Given the description of an element on the screen output the (x, y) to click on. 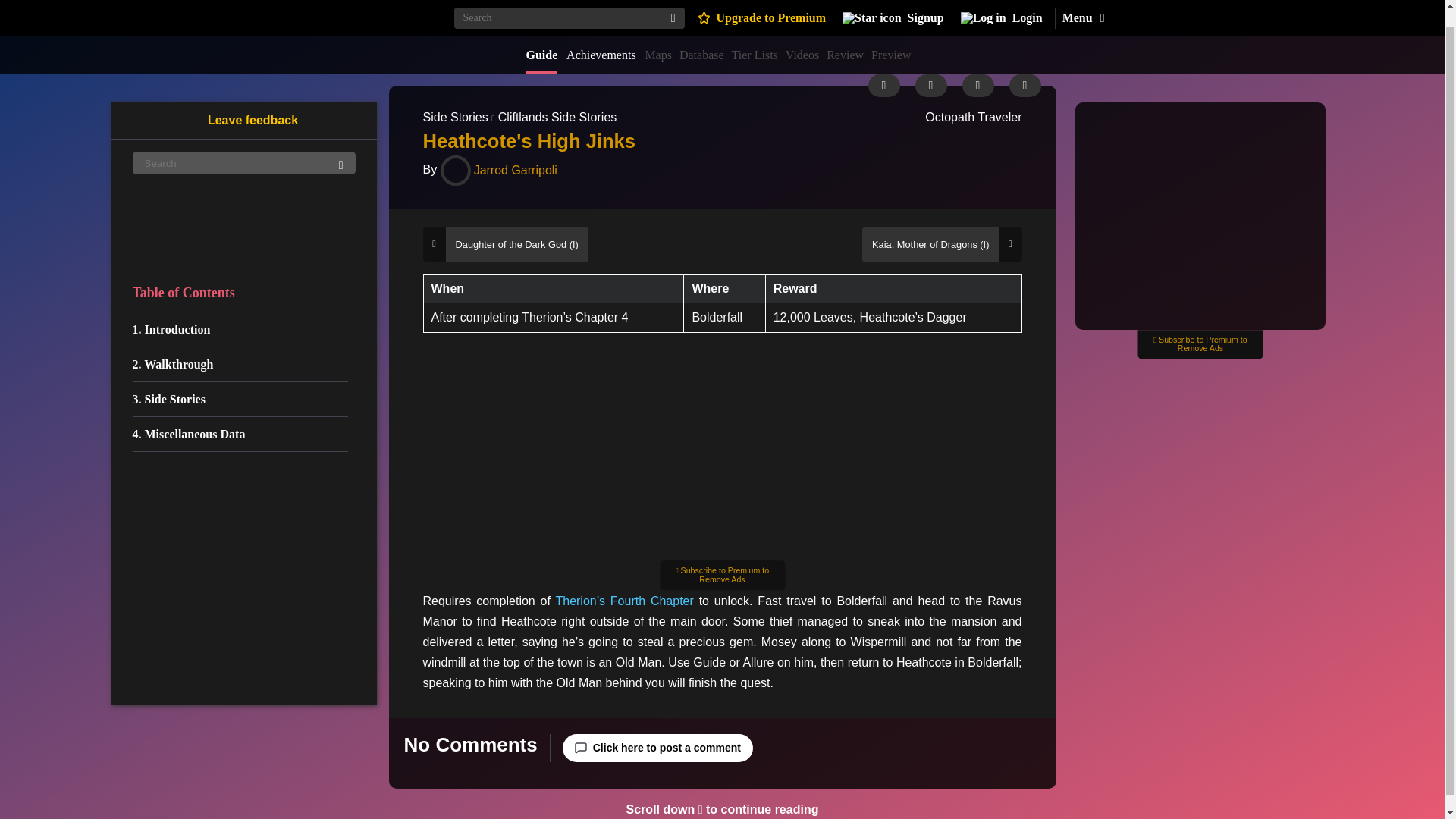
Achievements (600, 38)
Download guide (930, 85)
Achievements (600, 38)
Leave feedback (243, 104)
Guide information (883, 85)
Signup (893, 9)
Home (388, 6)
Share (976, 85)
Login (1001, 9)
Main Menu (1082, 9)
Therion's Fourth Chapter (623, 600)
Favorite (1025, 85)
